Given the description of an element on the screen output the (x, y) to click on. 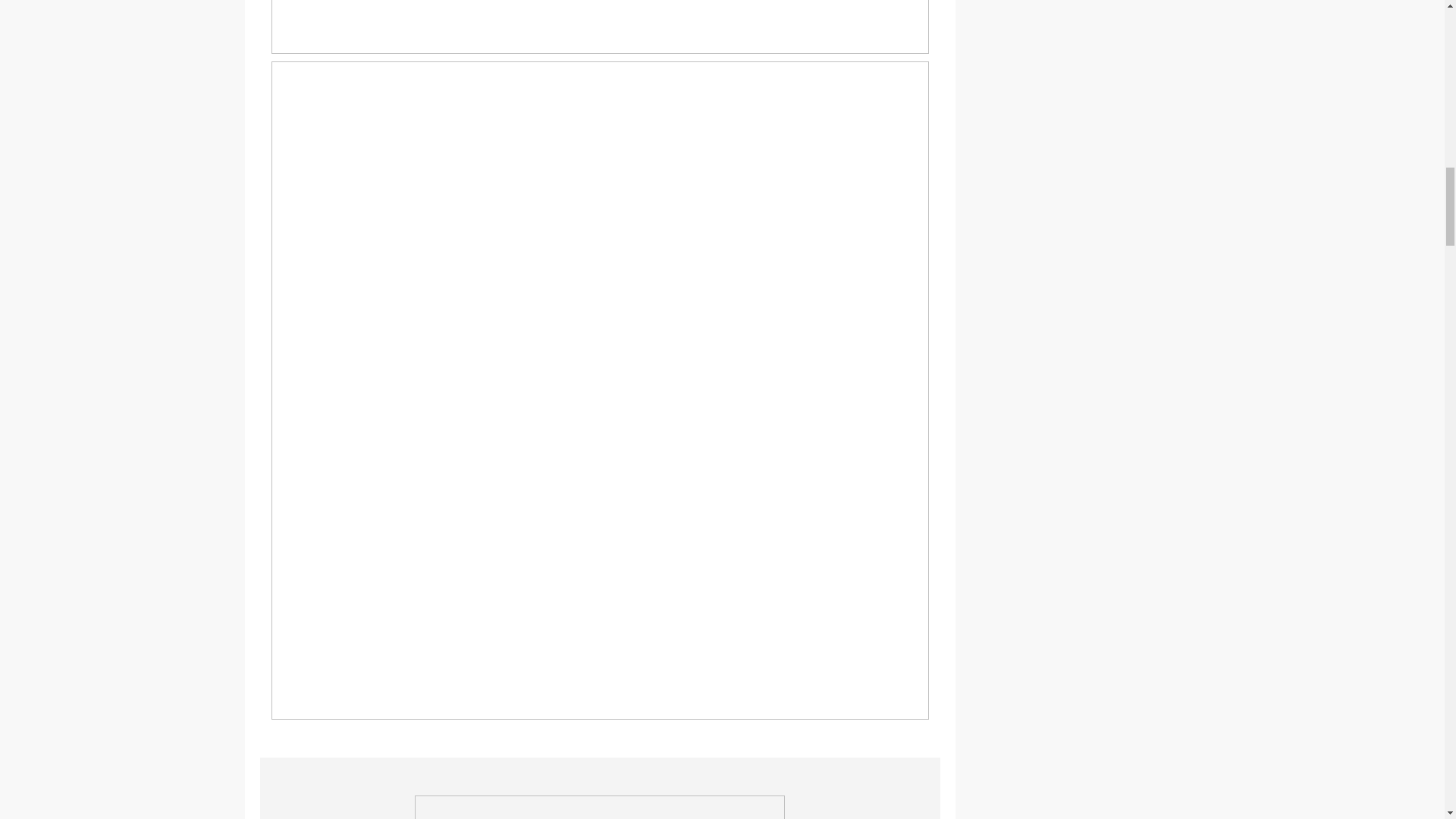
1-min (600, 27)
3-min (599, 807)
